Given the description of an element on the screen output the (x, y) to click on. 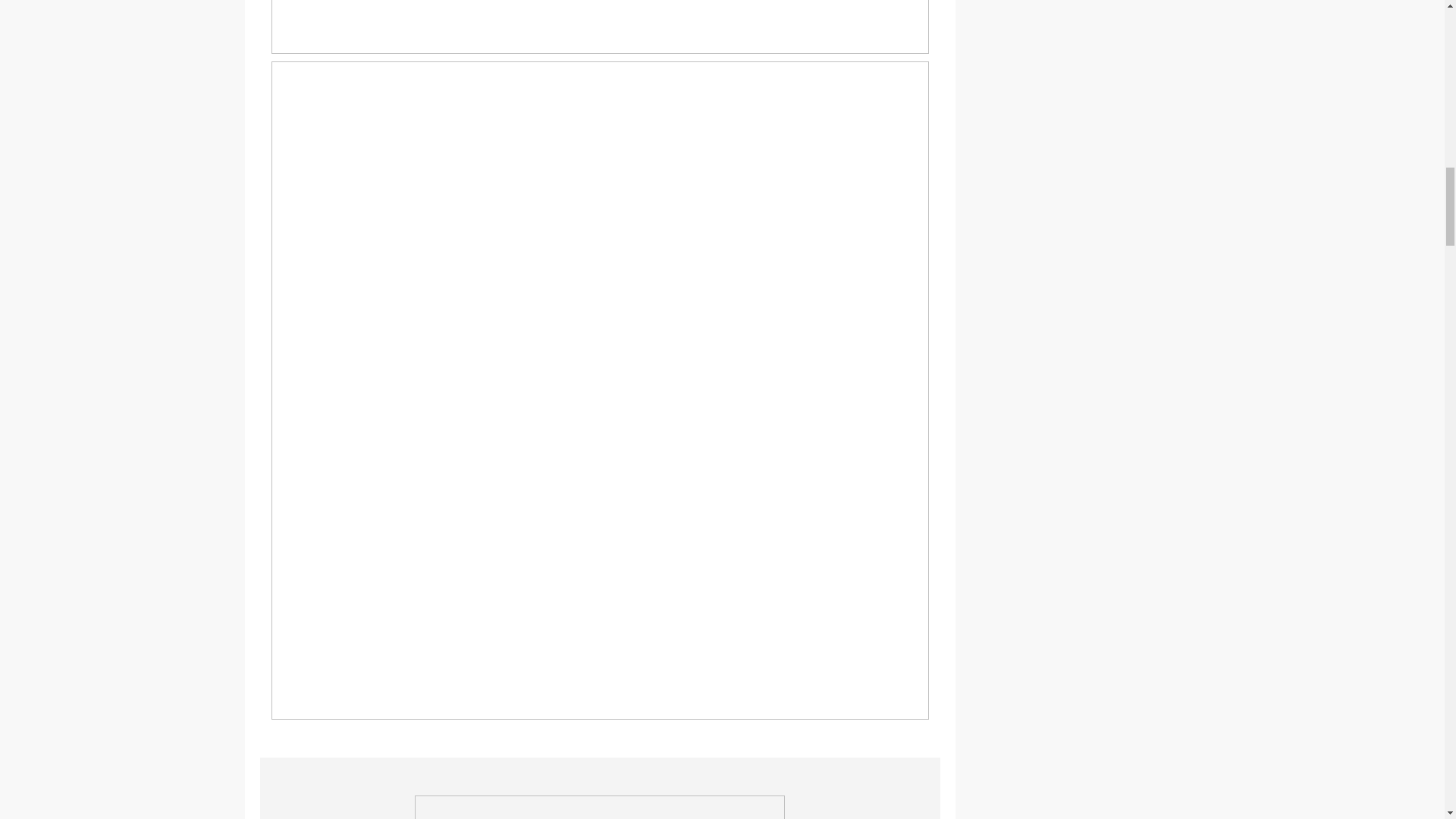
1-min (600, 27)
3-min (599, 807)
